Given the description of an element on the screen output the (x, y) to click on. 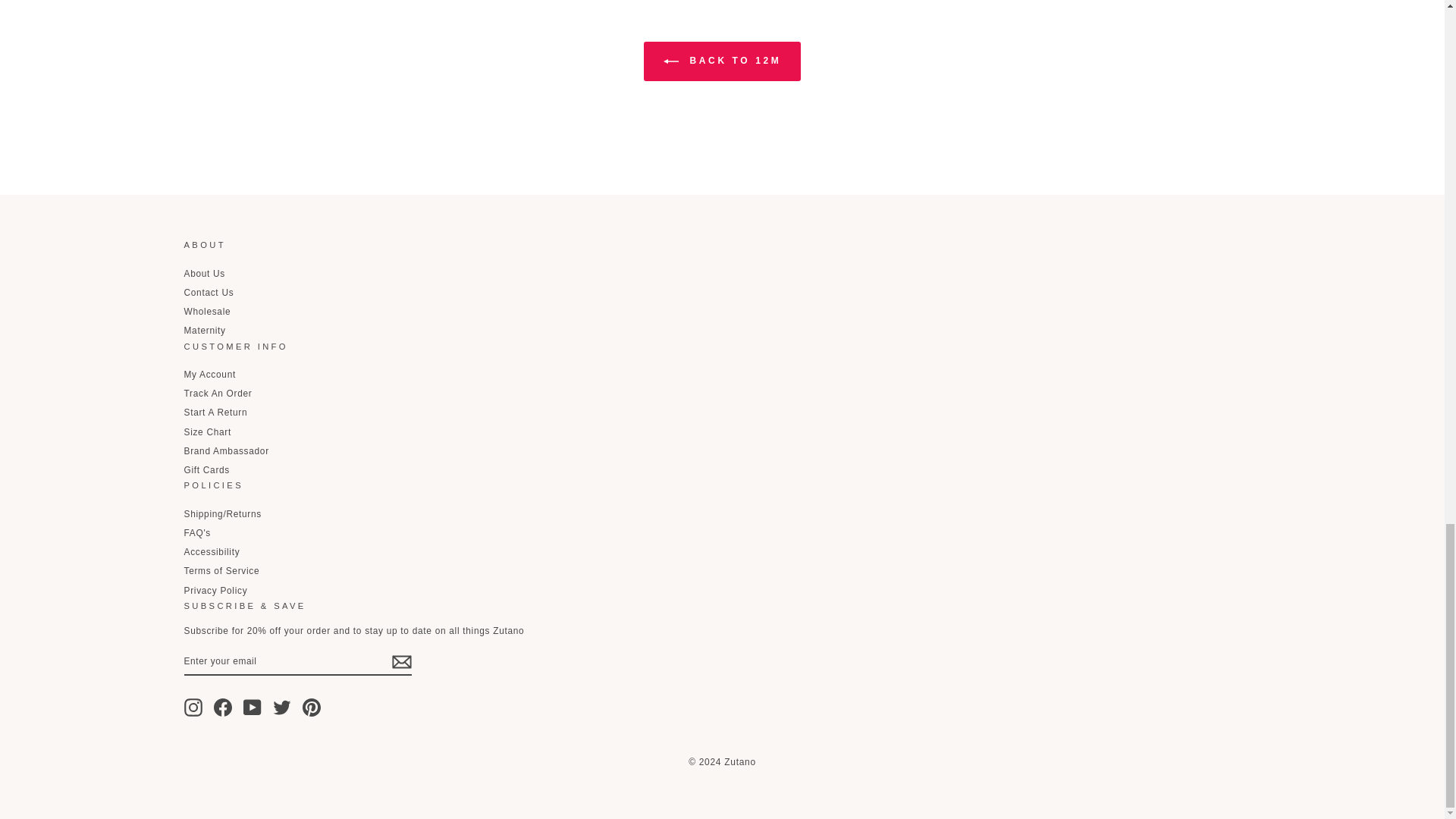
Zutano on Facebook (222, 707)
Zutano on YouTube (251, 707)
Zutano on Instagram (192, 707)
Zutano on Pinterest (310, 707)
icon-email (400, 661)
ICON-LEFT-ARROW (670, 61)
twitter (282, 707)
instagram (192, 707)
Zutano on Twitter (282, 707)
